Given the description of an element on the screen output the (x, y) to click on. 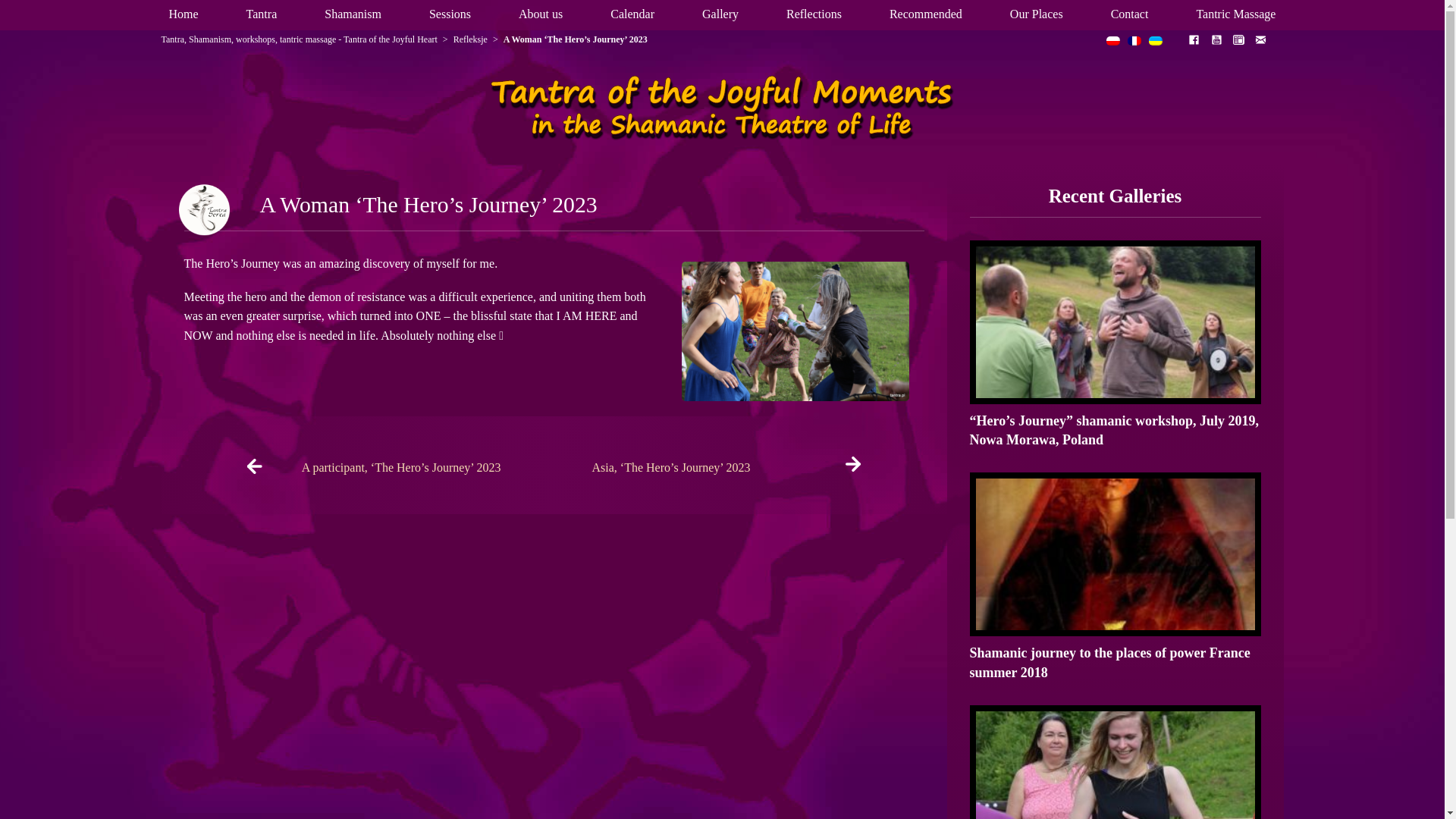
Refleksje (469, 39)
About us (540, 14)
Shamanism (352, 14)
Tantra (261, 14)
A Woman 'The Hero's Journey' 2023 - Tantra.pl (721, 109)
Sessions (450, 14)
Home (182, 14)
